Given the description of an element on the screen output the (x, y) to click on. 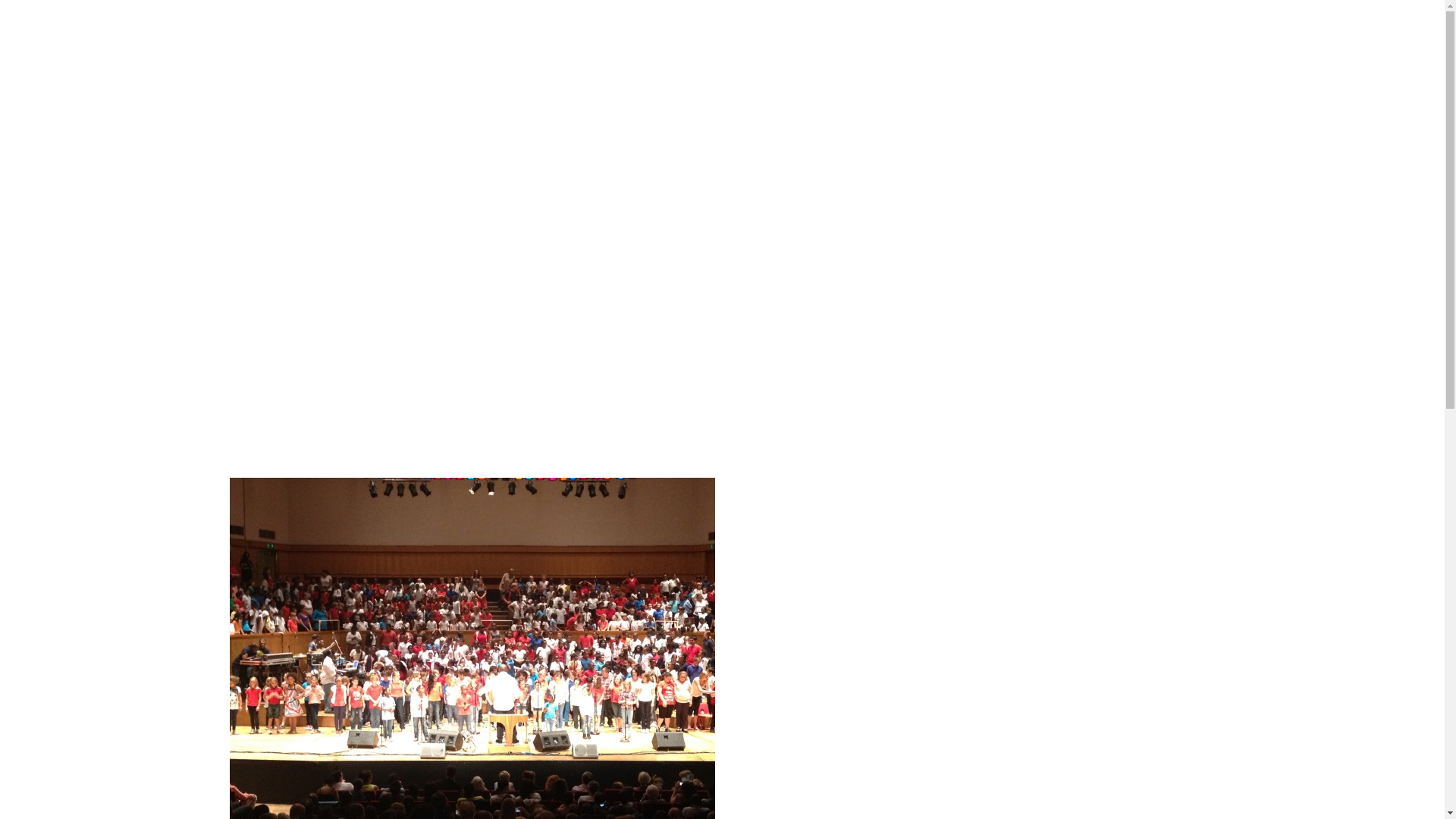
GALLERIES (1124, 47)
GET IN TOUCH (1310, 47)
SERVICES (1022, 47)
